Given the description of an element on the screen output the (x, y) to click on. 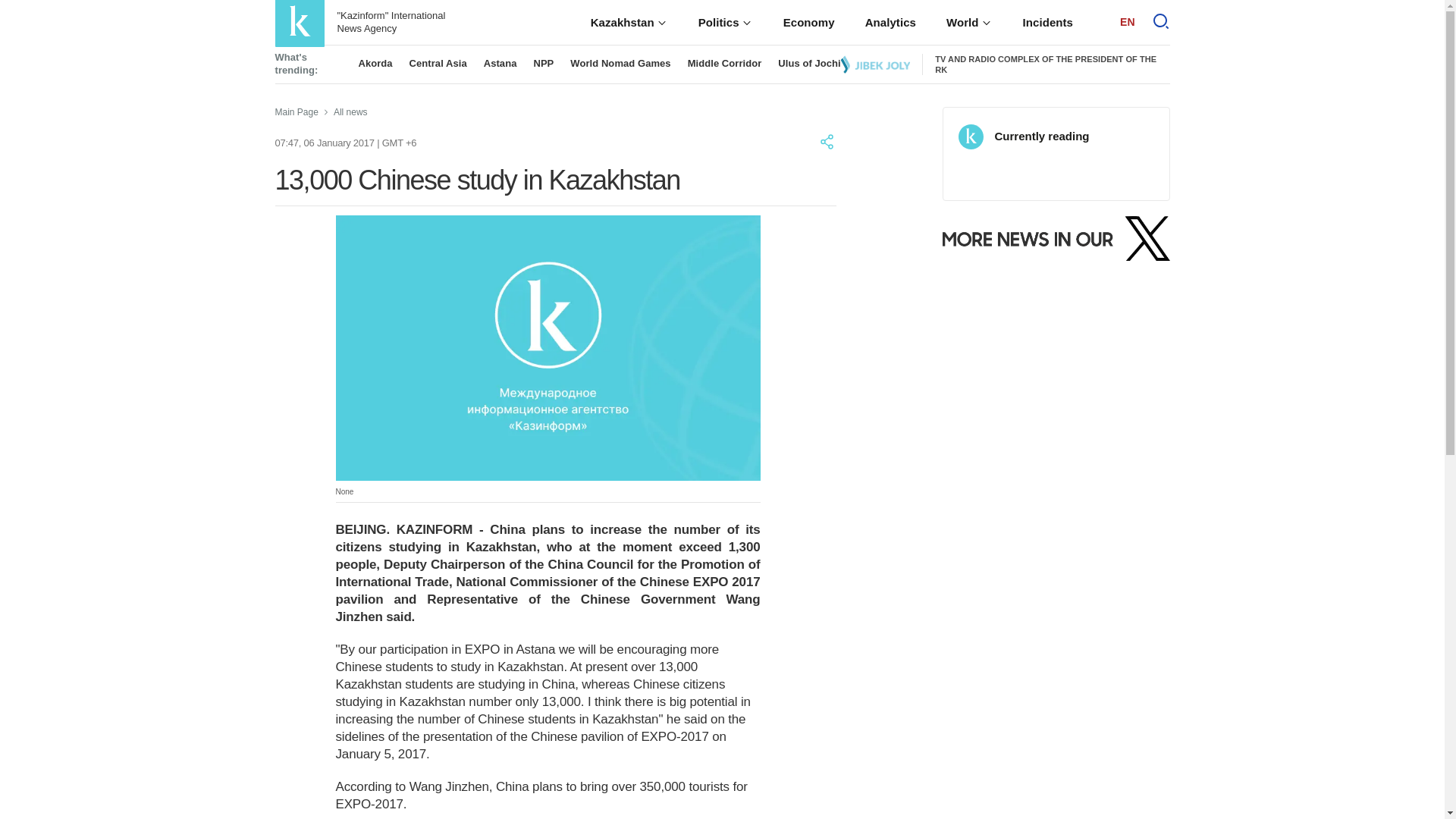
Kazakhstan (629, 22)
World Nomad Games (619, 62)
Analytics (889, 22)
Astana (499, 62)
TV AND RADIO COMPLEX OF THE PRESIDENT OF THE RK (1045, 65)
Middle Corridor (724, 62)
NPP (542, 62)
Politics (725, 22)
Central Asia (438, 62)
None (547, 347)
